Given the description of an element on the screen output the (x, y) to click on. 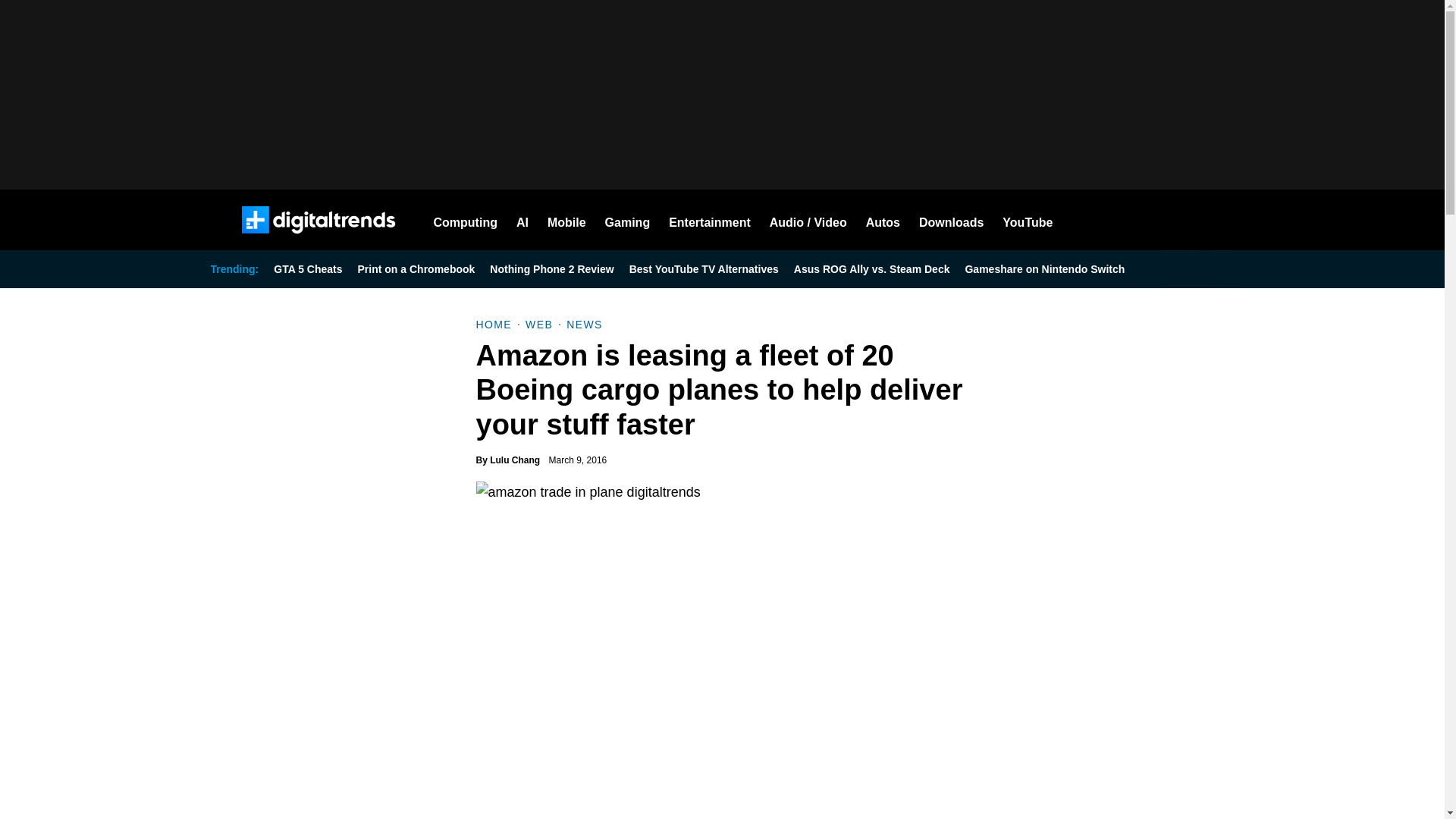
Entertainment (709, 219)
Computing (465, 219)
Downloads (951, 219)
